Given the description of an element on the screen output the (x, y) to click on. 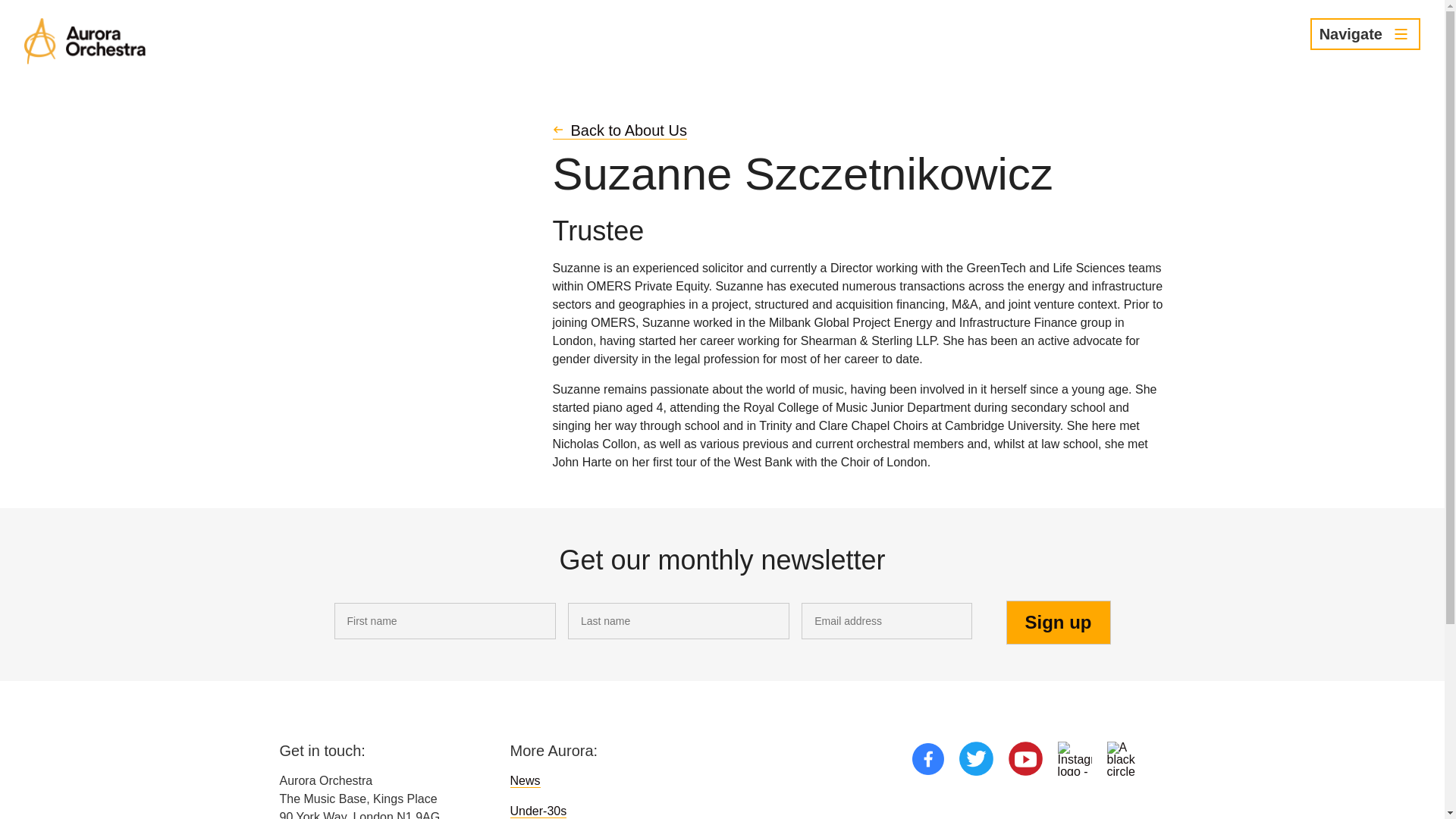
Navigate (1365, 33)
News (524, 780)
Under-30s (537, 811)
Back to About Us (618, 130)
Sign up (1058, 622)
Sign up (1058, 622)
